Given the description of an element on the screen output the (x, y) to click on. 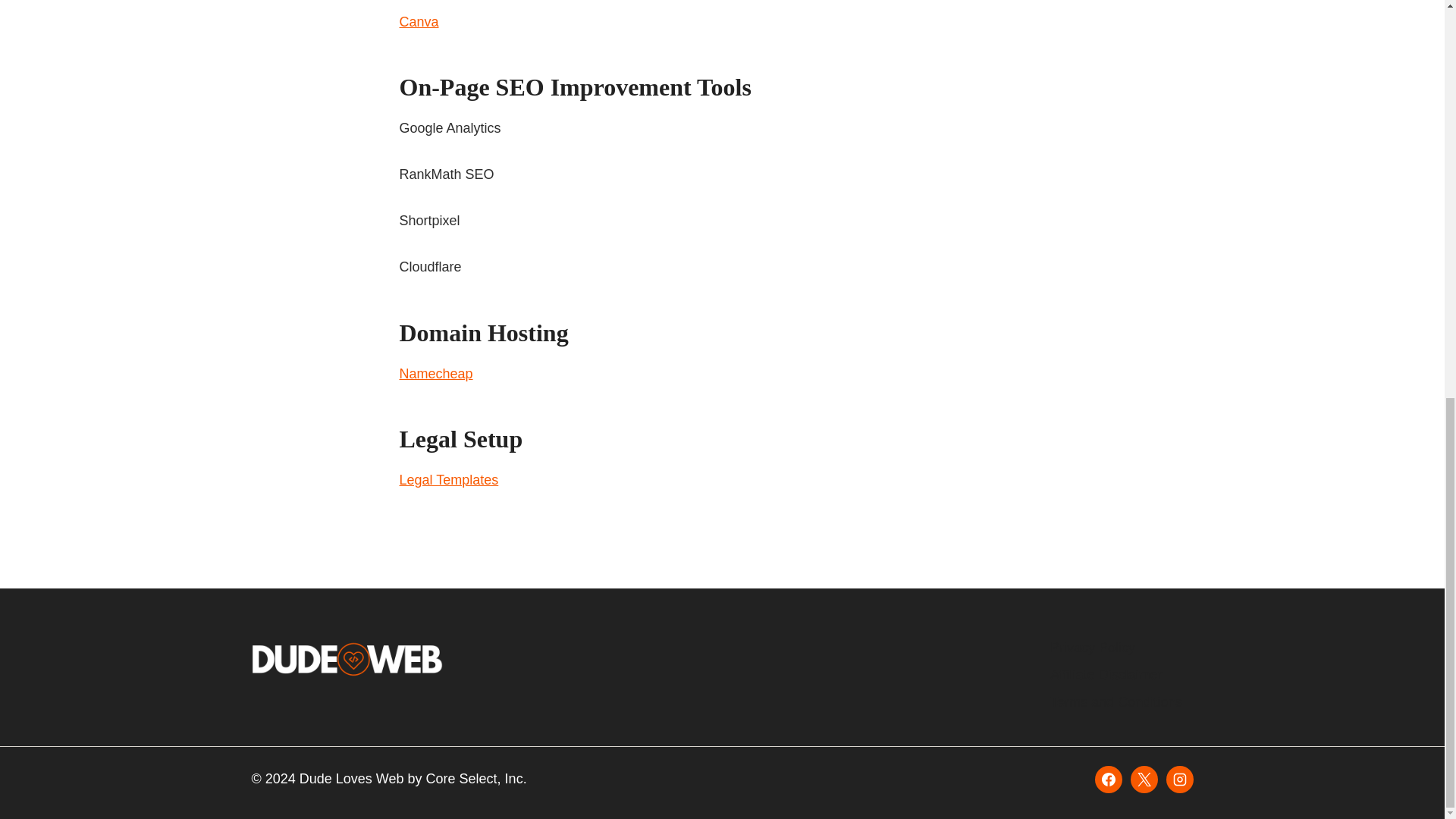
Legal Templates (447, 479)
Privacy Policy (1120, 646)
Namecheap (434, 373)
Canva (418, 21)
Terms and Conditions (1120, 701)
Affiliate Disclaimer (1120, 674)
